Given the description of an element on the screen output the (x, y) to click on. 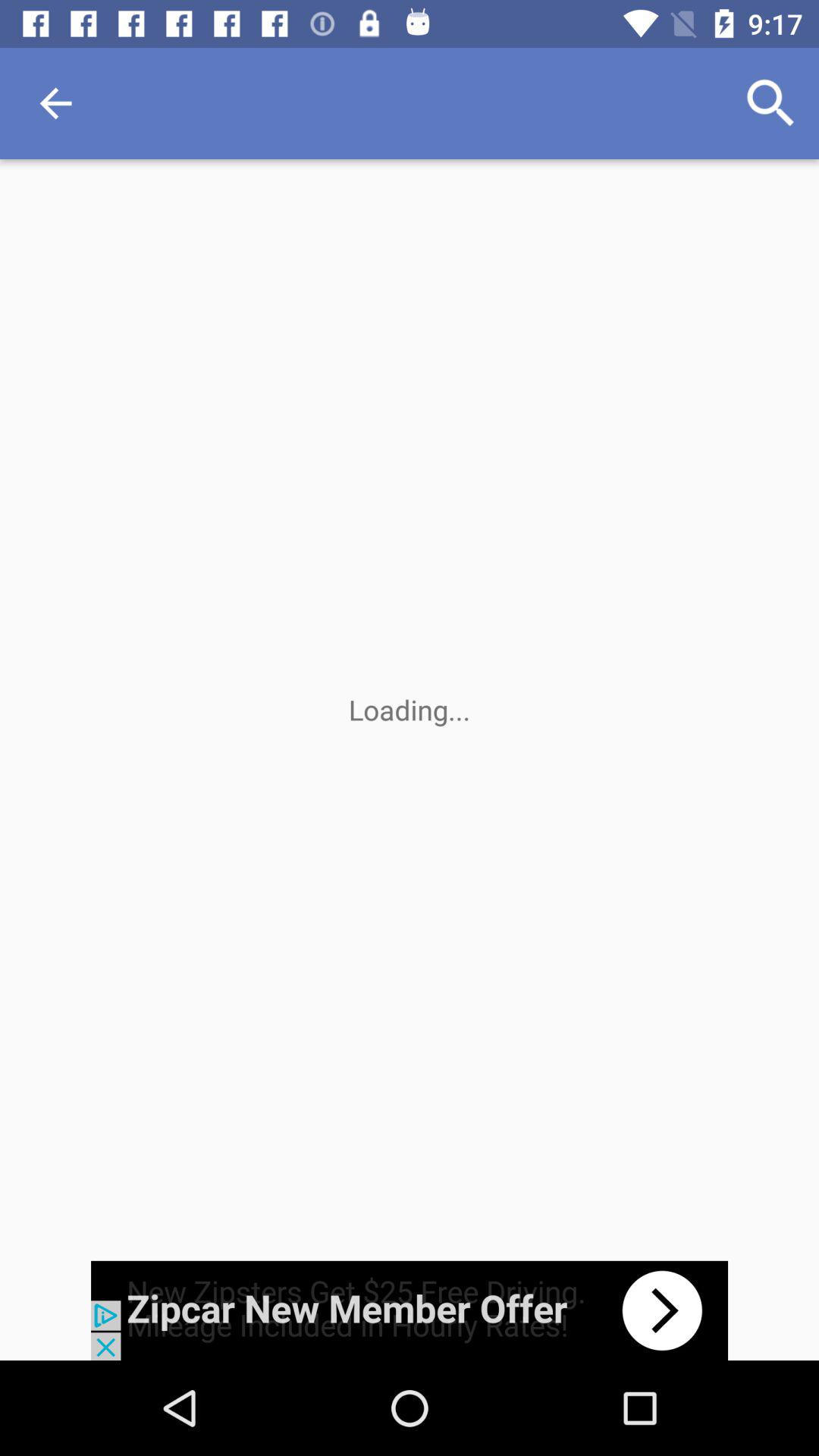
go forward (409, 1310)
